Given the description of an element on the screen output the (x, y) to click on. 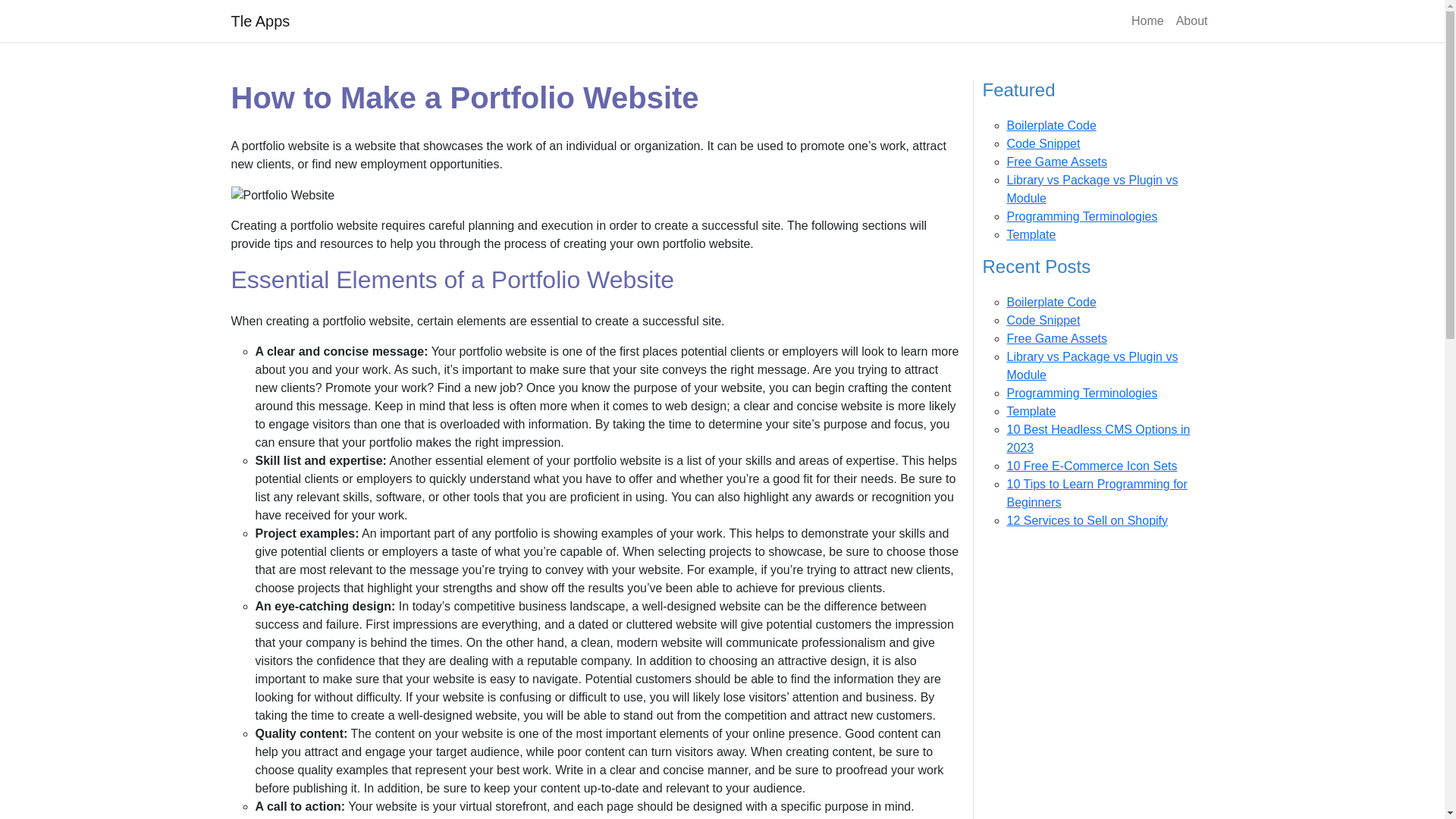
Boilerplate Code (1051, 124)
Home (1147, 20)
Template (1032, 234)
Tle Apps (259, 20)
Free Game Assets (1057, 338)
About (1192, 20)
10 Best Headless CMS Options in 2023 (1099, 438)
10 Free E-Commerce Icon Sets (1092, 465)
10 Tips to Learn Programming for Beginners (1097, 492)
Library vs Package vs Plugin vs Module (1092, 188)
